Given the description of an element on the screen output the (x, y) to click on. 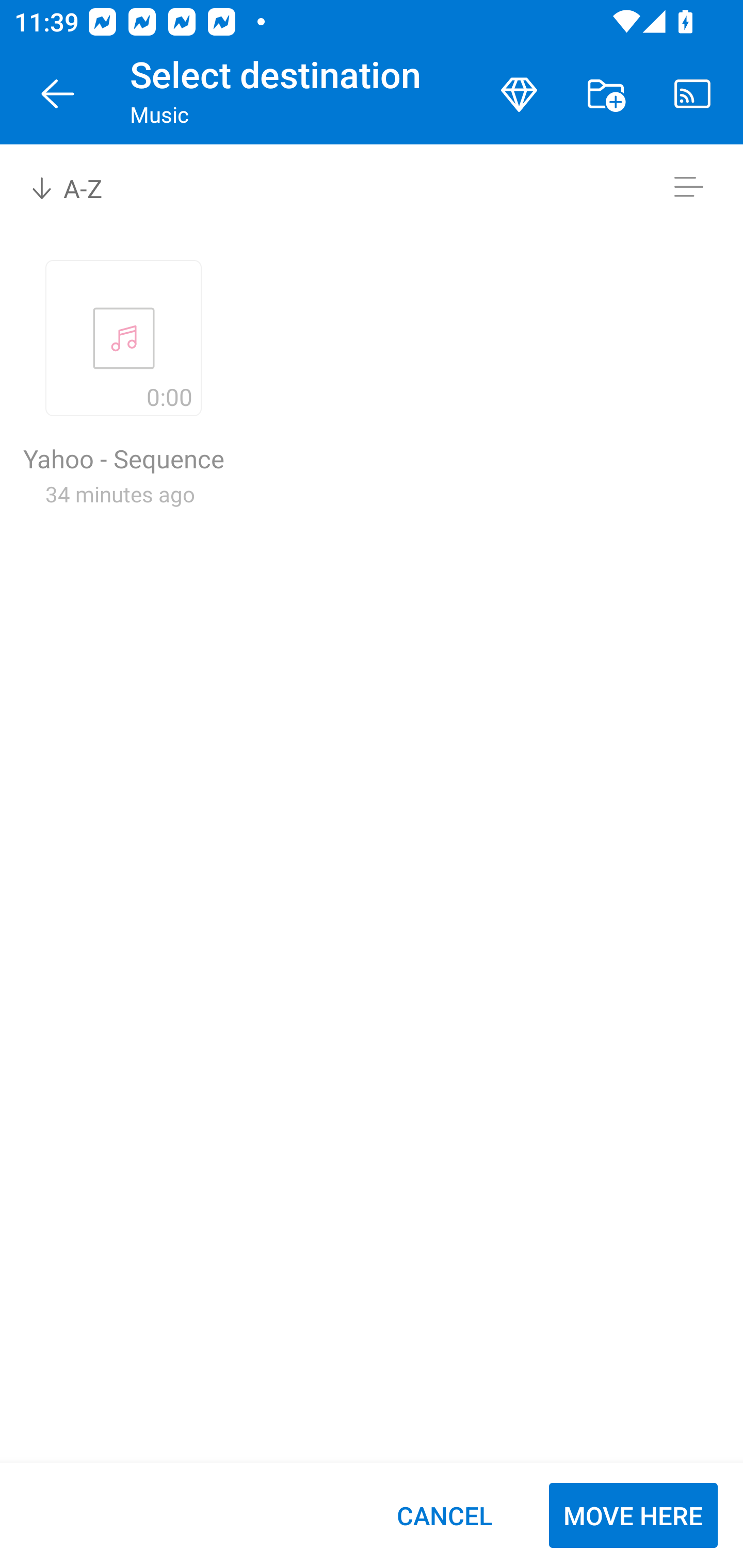
Navigate Up (57, 93)
Cast. Disconnected (692, 93)
Premium button (518, 93)
More actions button (605, 93)
A-Z Sort by combo box, sort by name, A to Z (80, 187)
Switch to list view (688, 187)
34 minutes ago (119, 493)
CANCEL (443, 1515)
MOVE HERE (633, 1515)
